Given the description of an element on the screen output the (x, y) to click on. 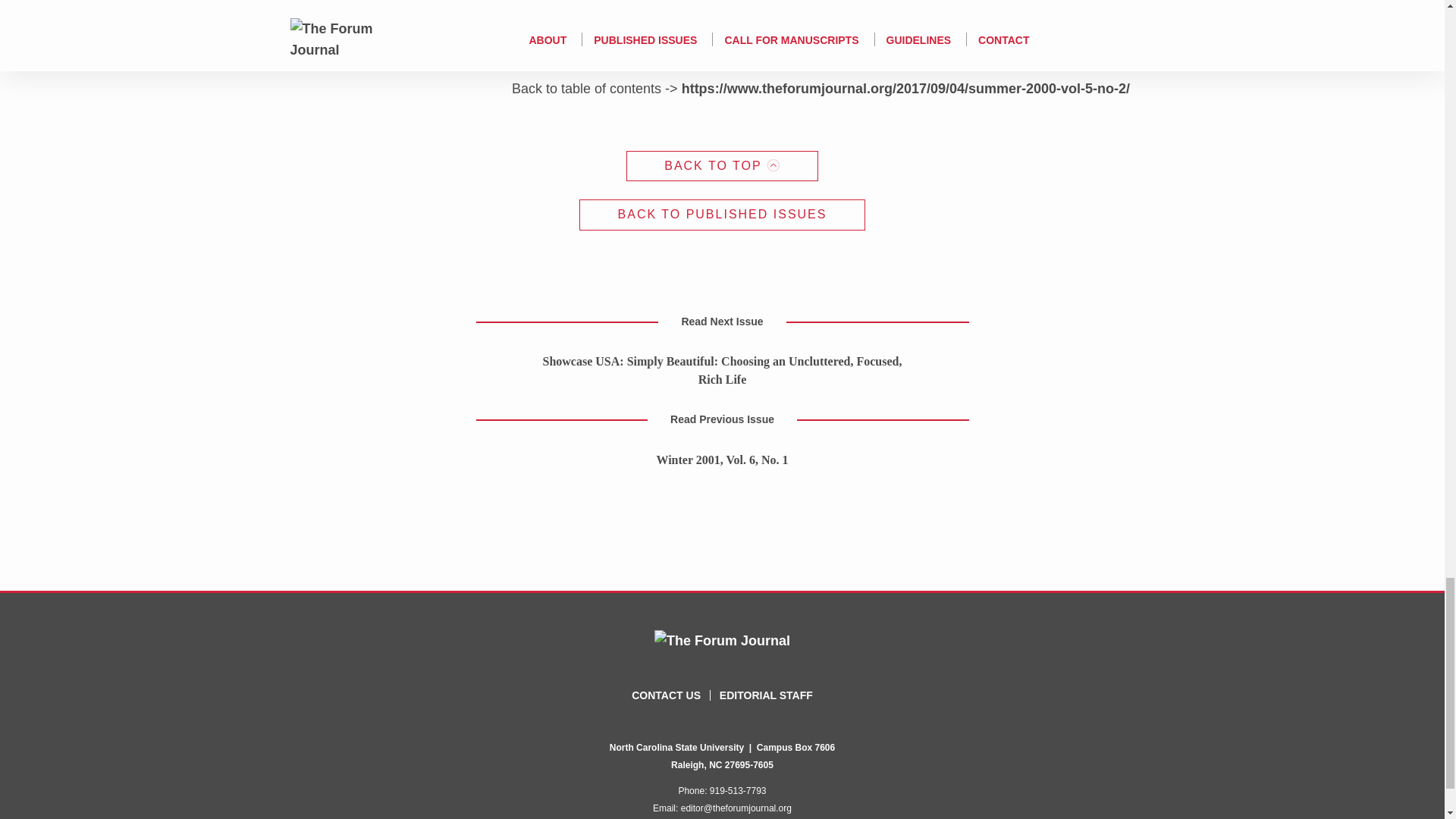
BACK TO TOP (722, 165)
CONTACT US (665, 695)
BACK TO TOP (722, 165)
EDITORIAL STAFF (765, 695)
919-513-7793 (738, 790)
The Forum Journal (721, 639)
Winter 2001, Vol. 6, No. 1 (721, 459)
BACK TO PUBLISHED ISSUES (722, 214)
